Given the description of an element on the screen output the (x, y) to click on. 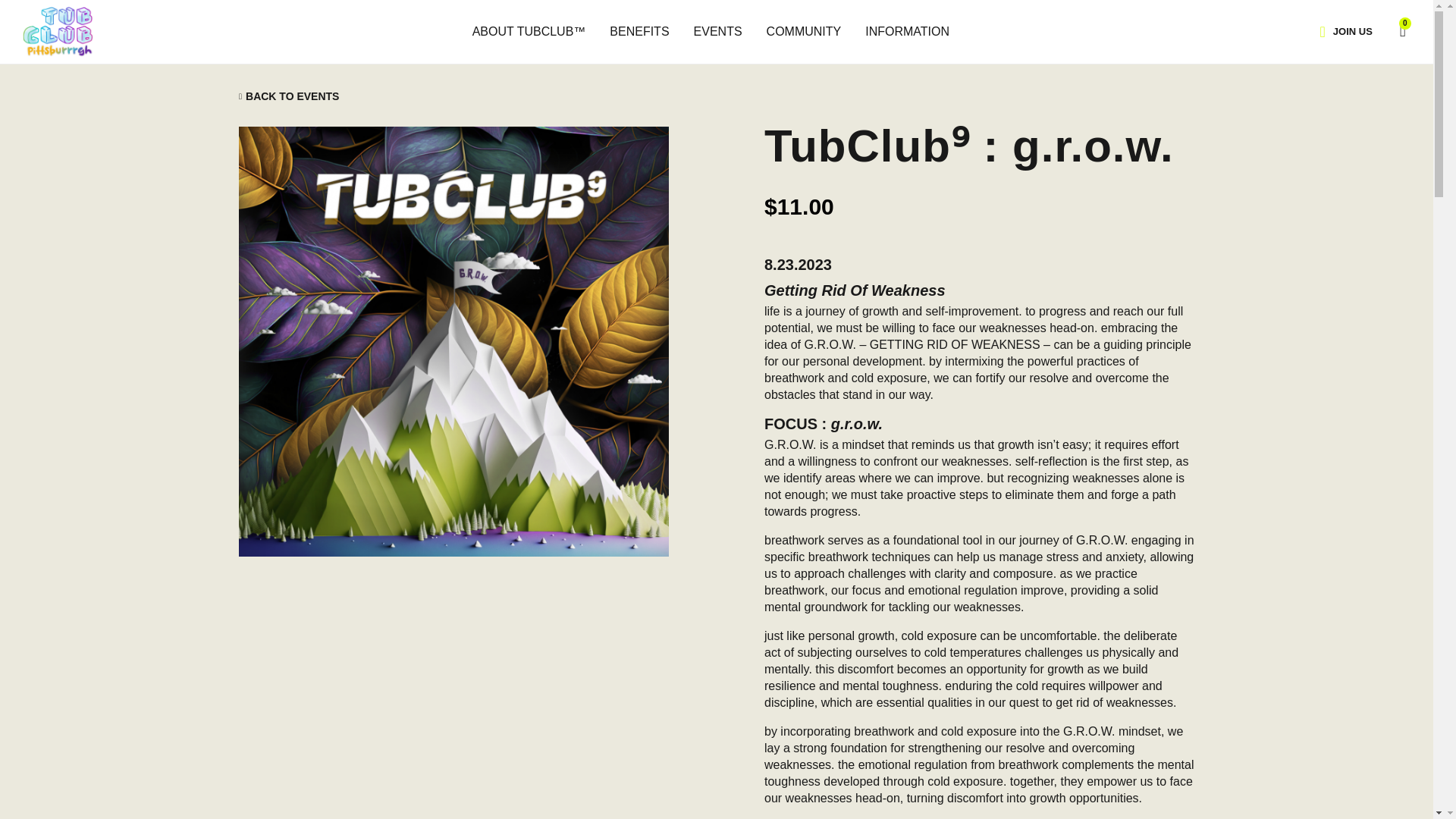
JOIN US (1352, 31)
0 (1396, 30)
